Given the description of an element on the screen output the (x, y) to click on. 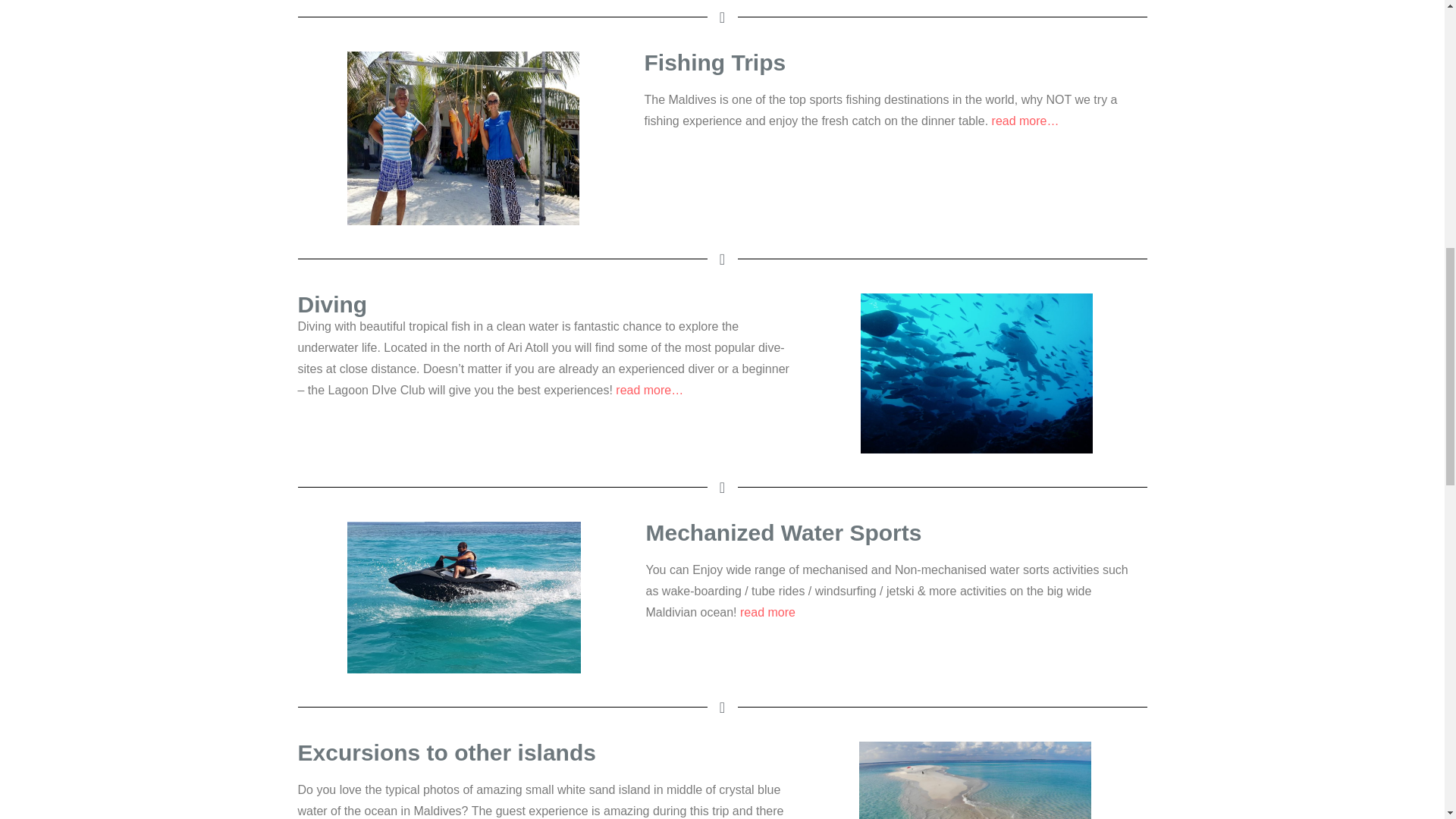
read more (766, 612)
